Given the description of an element on the screen output the (x, y) to click on. 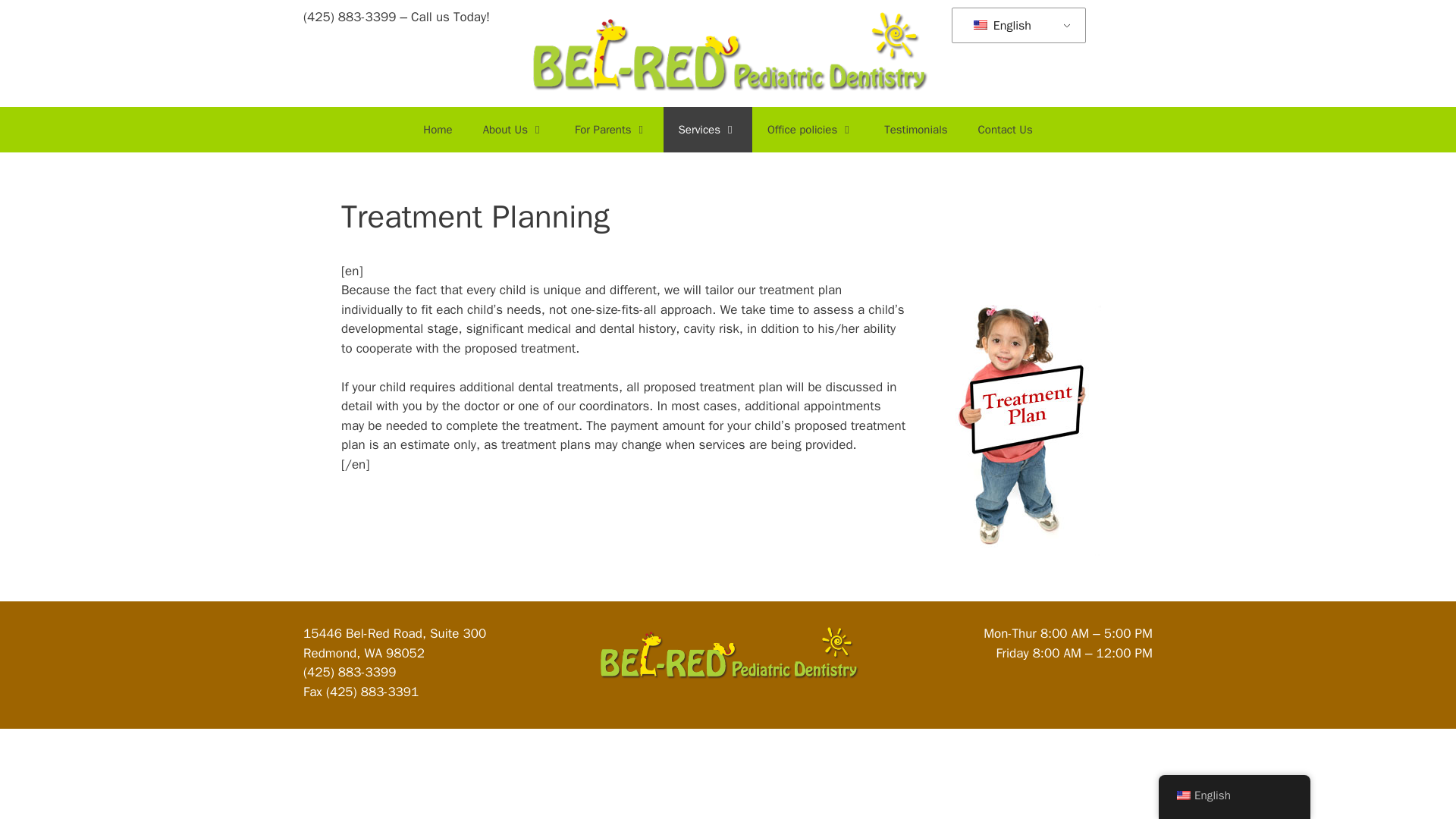
Services (707, 129)
For Parents (611, 129)
Office policies (810, 129)
English (1016, 25)
Home (437, 129)
Testimonials (915, 129)
About Us (513, 129)
English (980, 24)
Contact Us (1005, 129)
English (1016, 25)
